Given the description of an element on the screen output the (x, y) to click on. 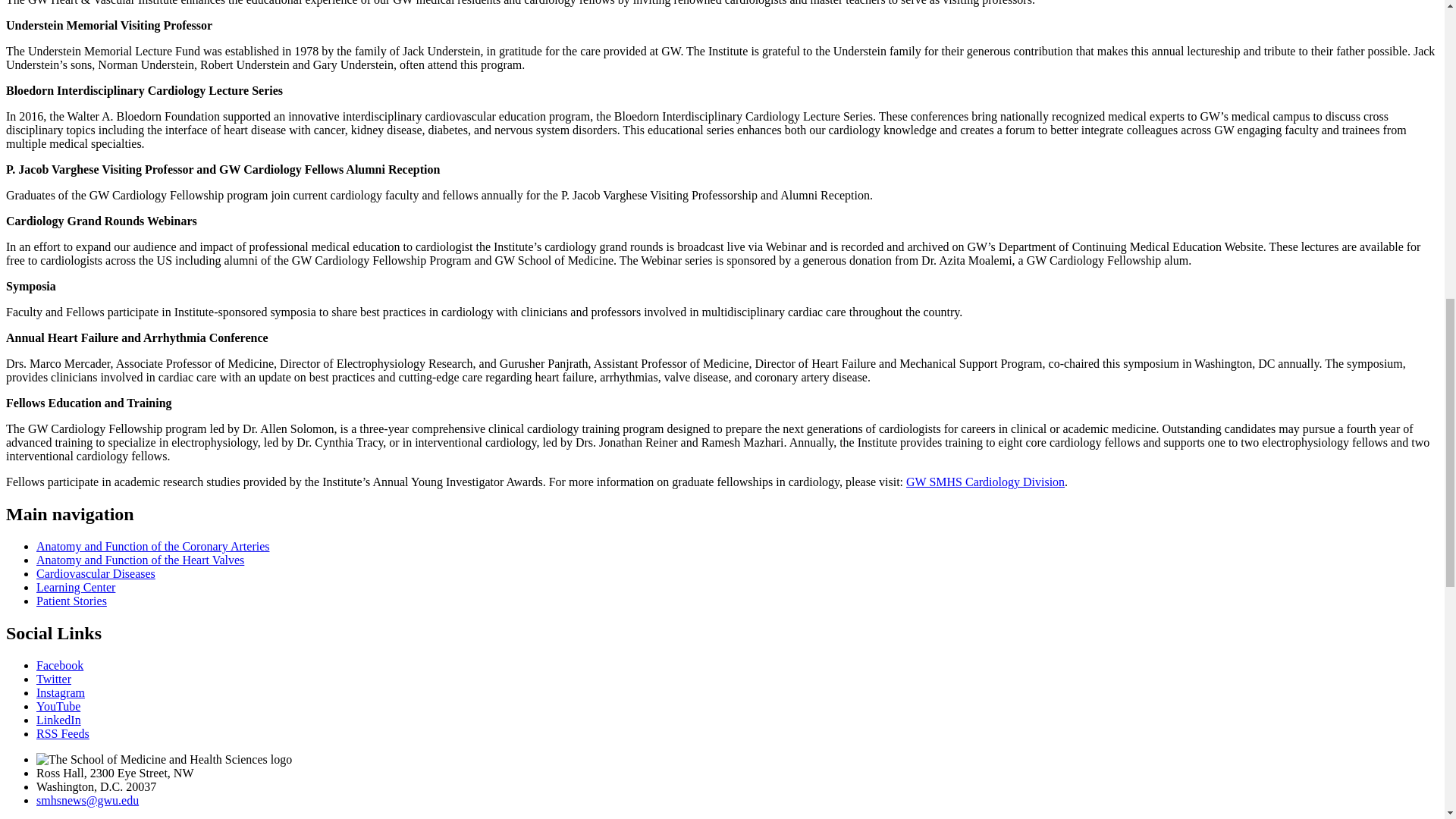
GW SMHS Cardiology Division (984, 481)
Cardiovascular Diseases (95, 573)
The School of Medicine and Health Sciences (164, 759)
Anatomy and Function of the Heart Valves (140, 559)
Learning Center (75, 586)
Anatomy and Function of the Coronary Arteries (152, 545)
